Given the description of an element on the screen output the (x, y) to click on. 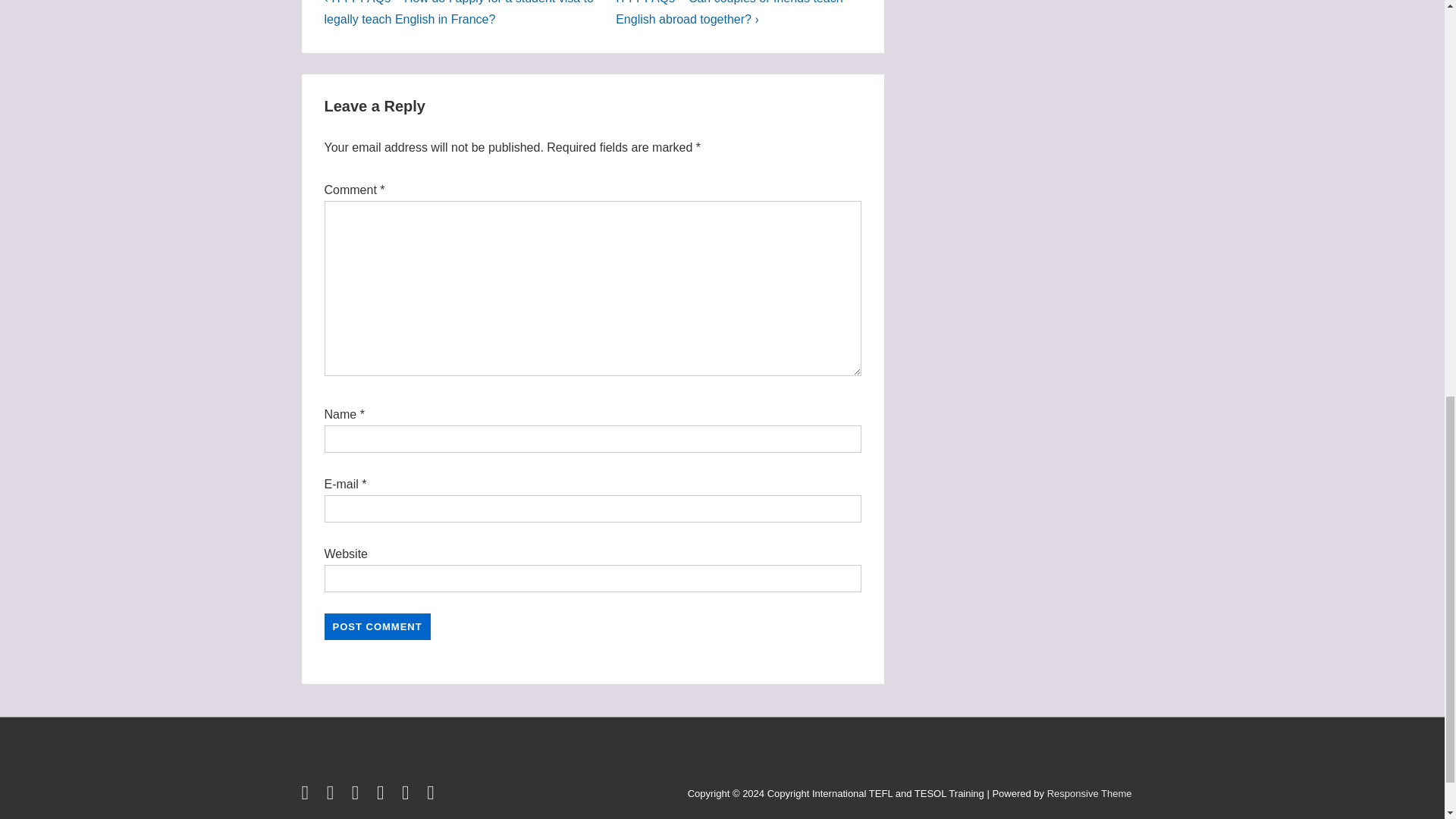
twitter (308, 795)
Responsive Theme (1089, 793)
facebook (333, 795)
linkedin (358, 795)
youtube (383, 795)
pinterest (407, 795)
Post Comment (377, 626)
Post Comment (377, 626)
vimeo (432, 795)
